Given the description of an element on the screen output the (x, y) to click on. 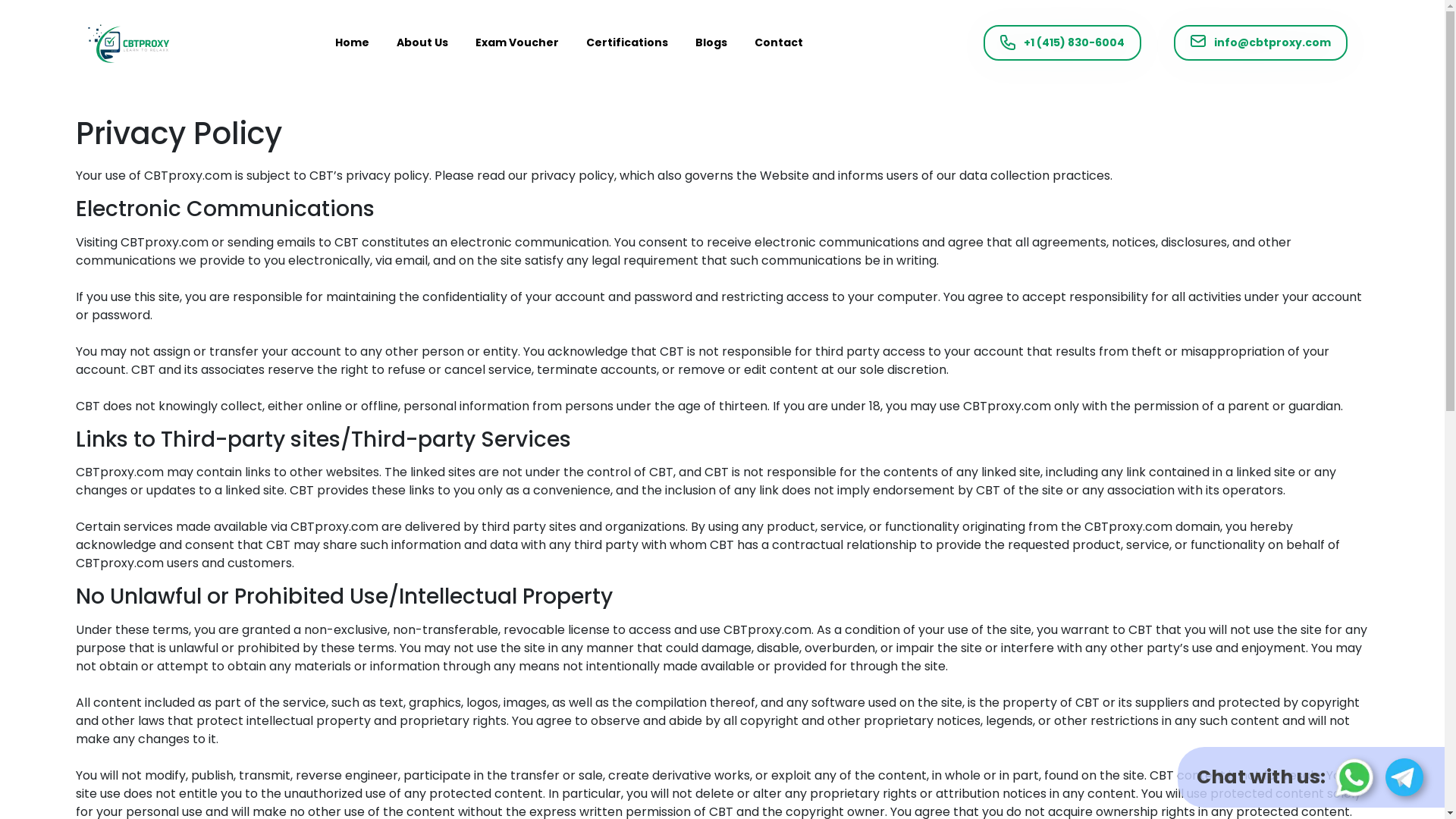
About Us (422, 42)
Certifications (627, 42)
Exam Voucher (517, 42)
Home (351, 42)
Contact (778, 42)
Blogs (710, 42)
